Given the description of an element on the screen output the (x, y) to click on. 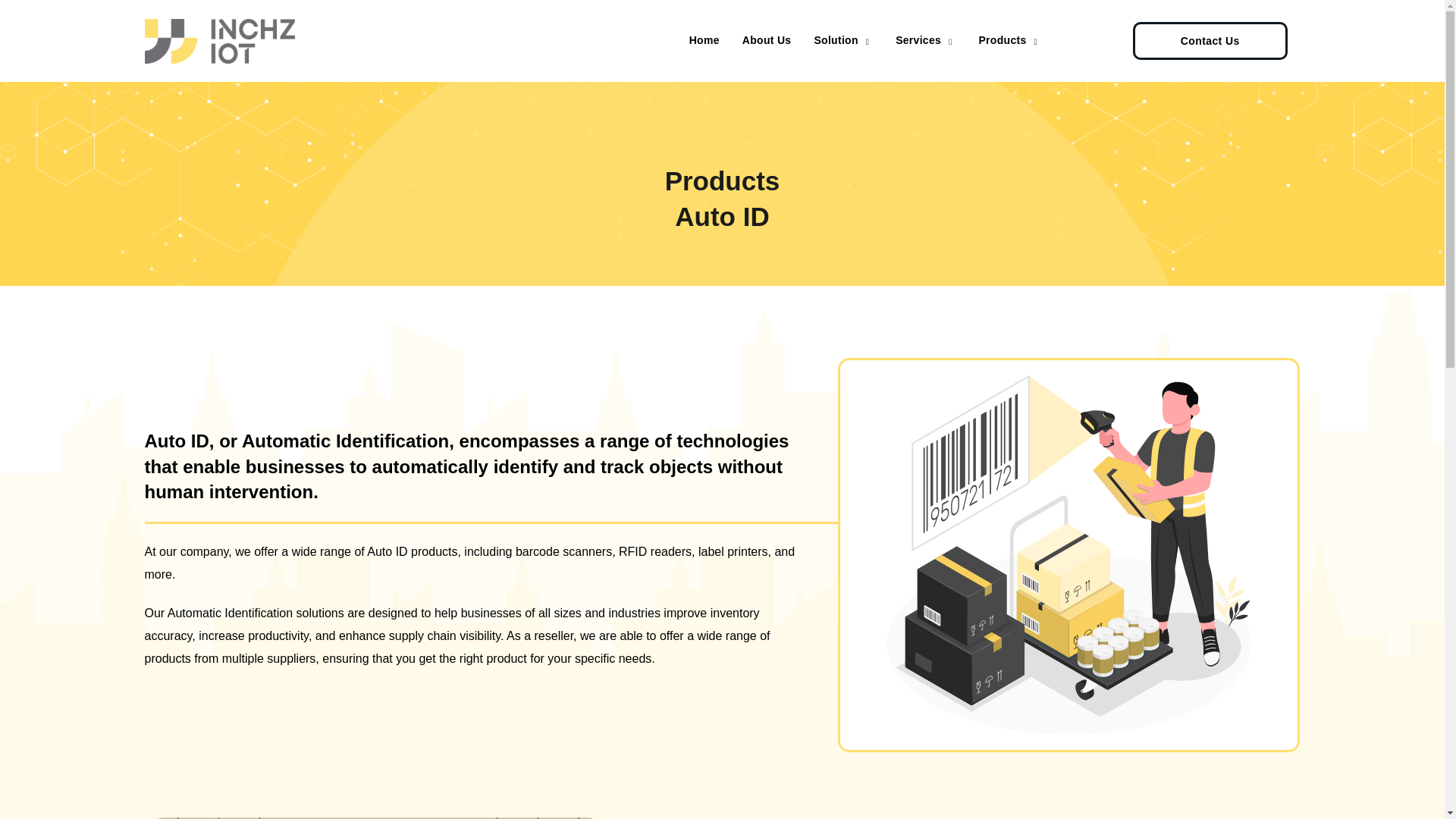
Home (703, 41)
Services (925, 41)
Products (1009, 41)
Solution (842, 41)
Contact Us (1209, 40)
About Us (767, 41)
